Given the description of an element on the screen output the (x, y) to click on. 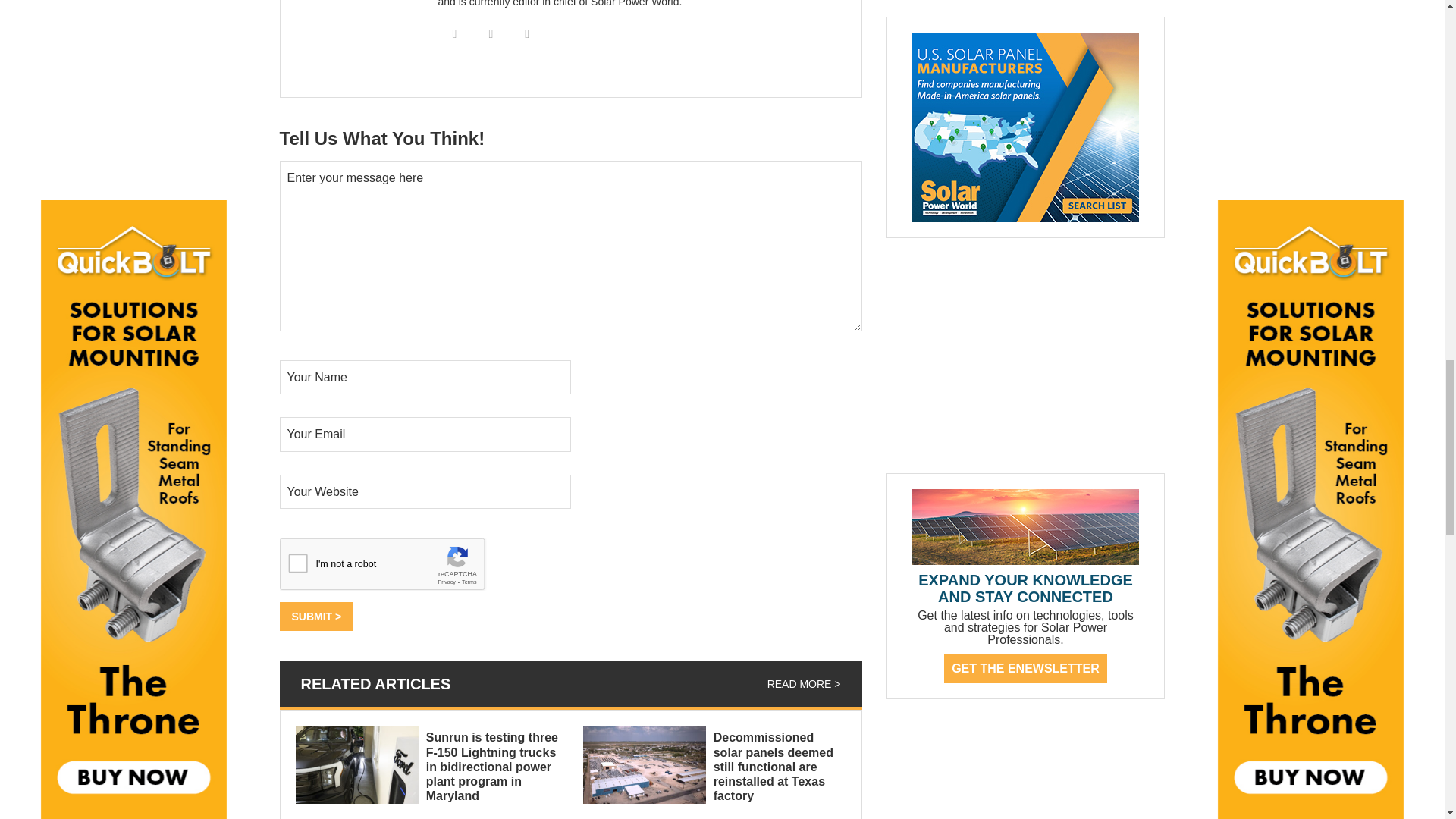
reCAPTCHA (394, 567)
3rd party ad content (1024, 355)
3rd party ad content (999, 770)
